Given the description of an element on the screen output the (x, y) to click on. 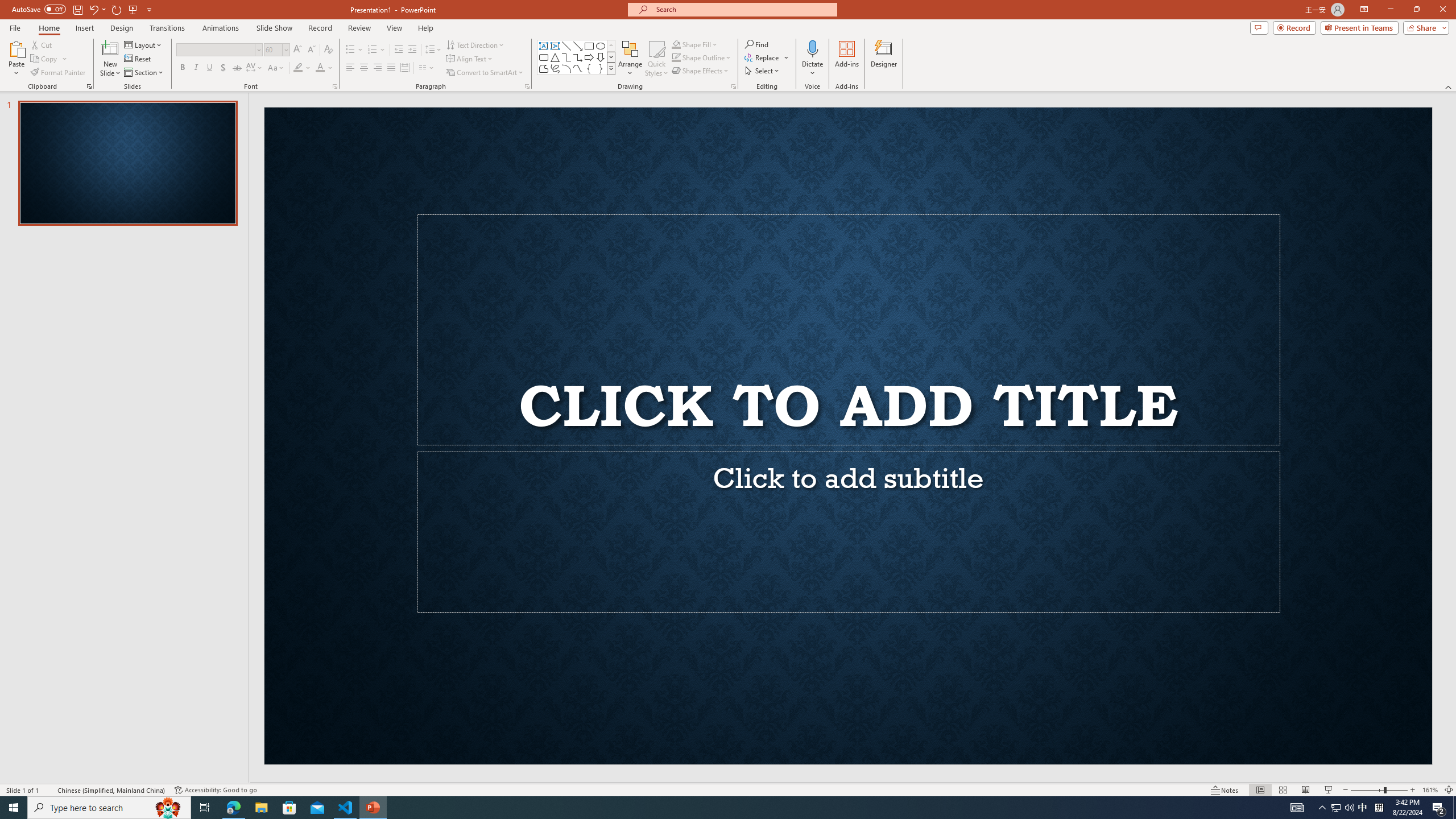
Zoom 161% (1430, 790)
